Given the description of an element on the screen output the (x, y) to click on. 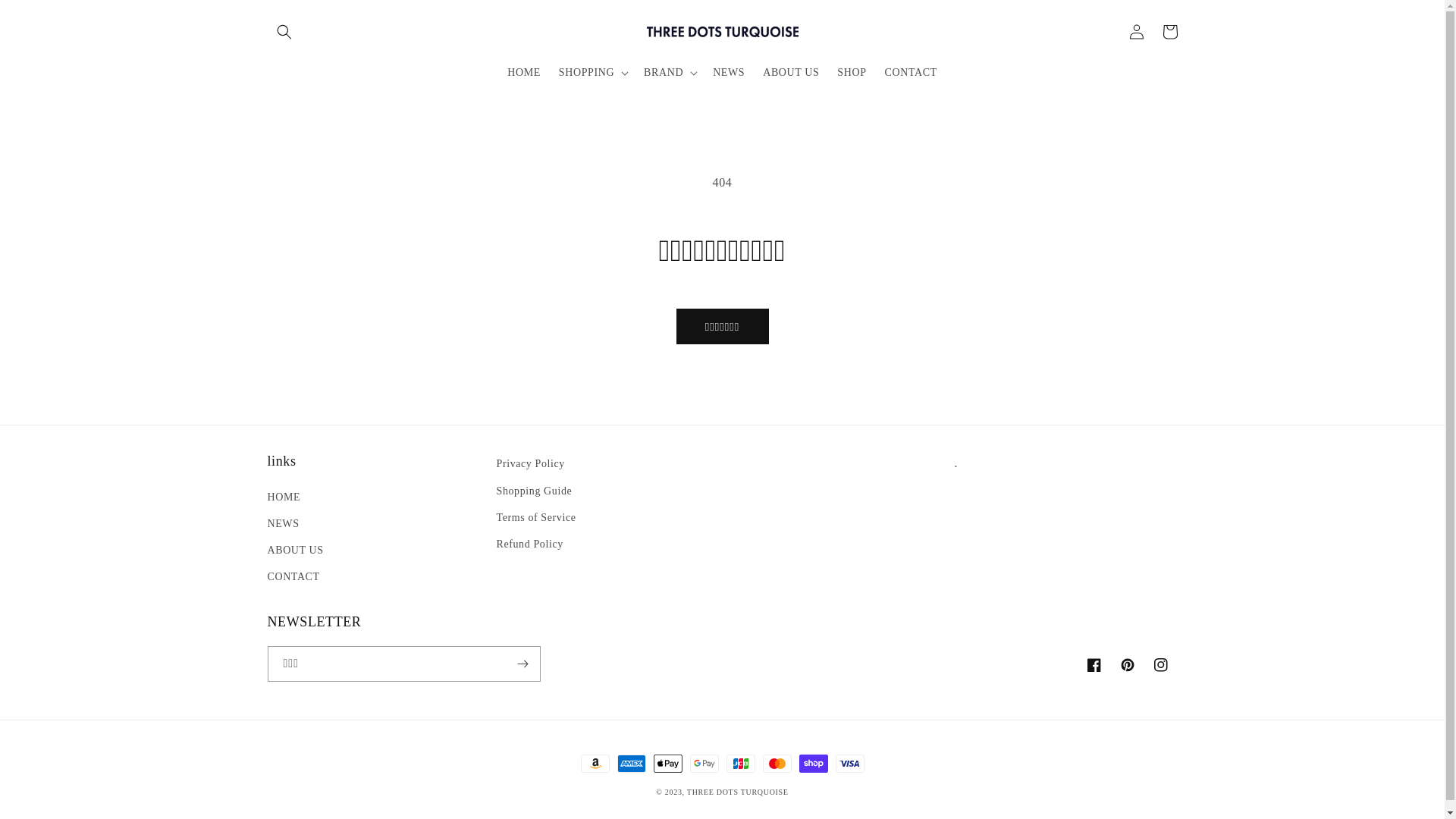
Refund Policy Element type: text (528, 543)
Instagram Element type: text (1159, 664)
ABOUT US Element type: text (294, 549)
Privacy Policy Element type: text (529, 465)
CONTACT Element type: text (910, 71)
Shopping Guide Element type: text (533, 490)
NEWS Element type: text (282, 523)
Pinterest Element type: text (1126, 664)
ABOUT US Element type: text (790, 71)
Facebook Element type: text (1093, 664)
Terms of Service Element type: text (535, 517)
HOME Element type: text (523, 71)
HOME Element type: text (283, 498)
CONTACT Element type: text (292, 576)
THREE DOTS TURQUOISE Element type: text (737, 791)
SHOP Element type: text (851, 71)
NEWS Element type: text (728, 71)
